Given the description of an element on the screen output the (x, y) to click on. 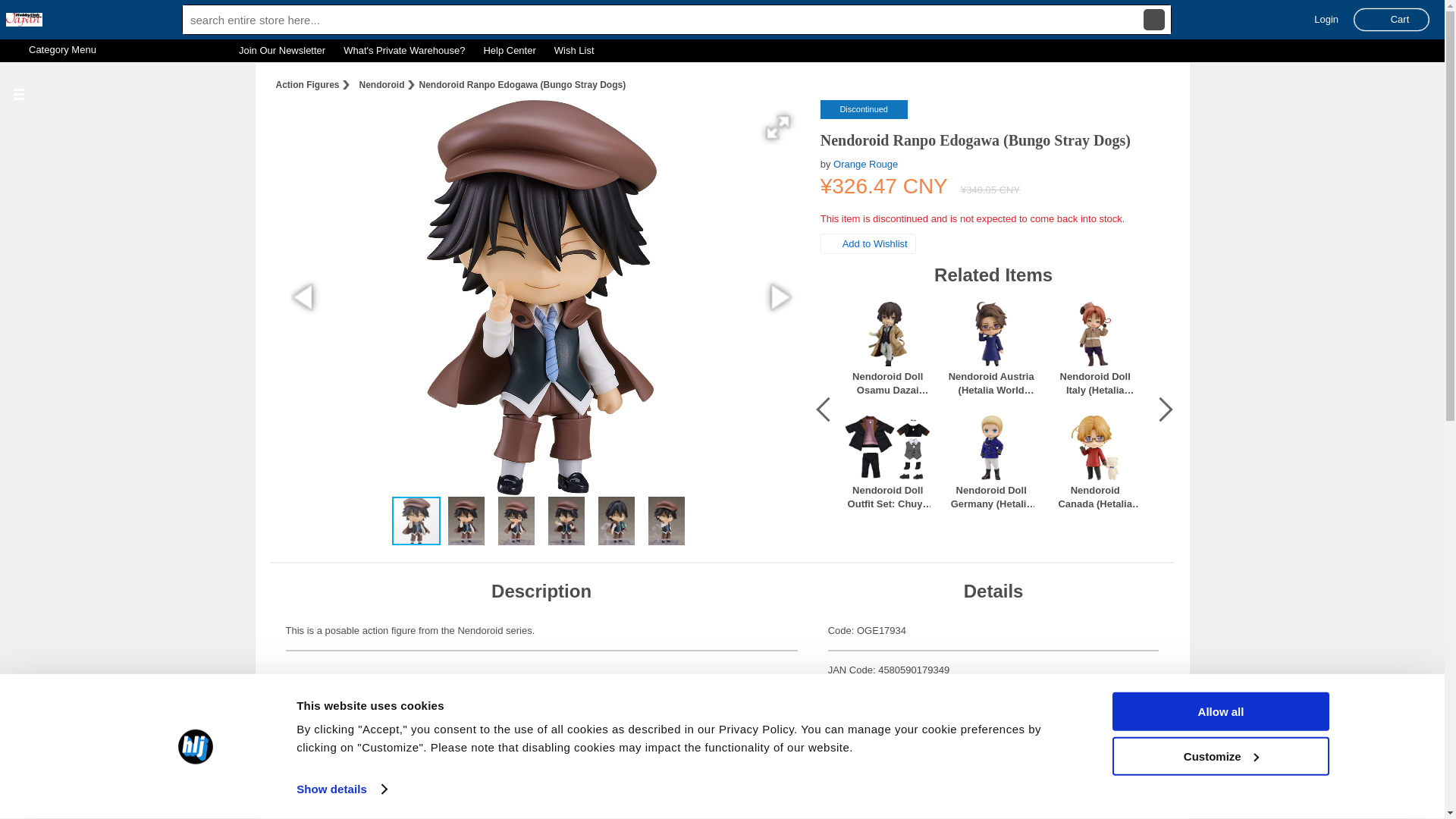
Show details (341, 789)
